Given the description of an element on the screen output the (x, y) to click on. 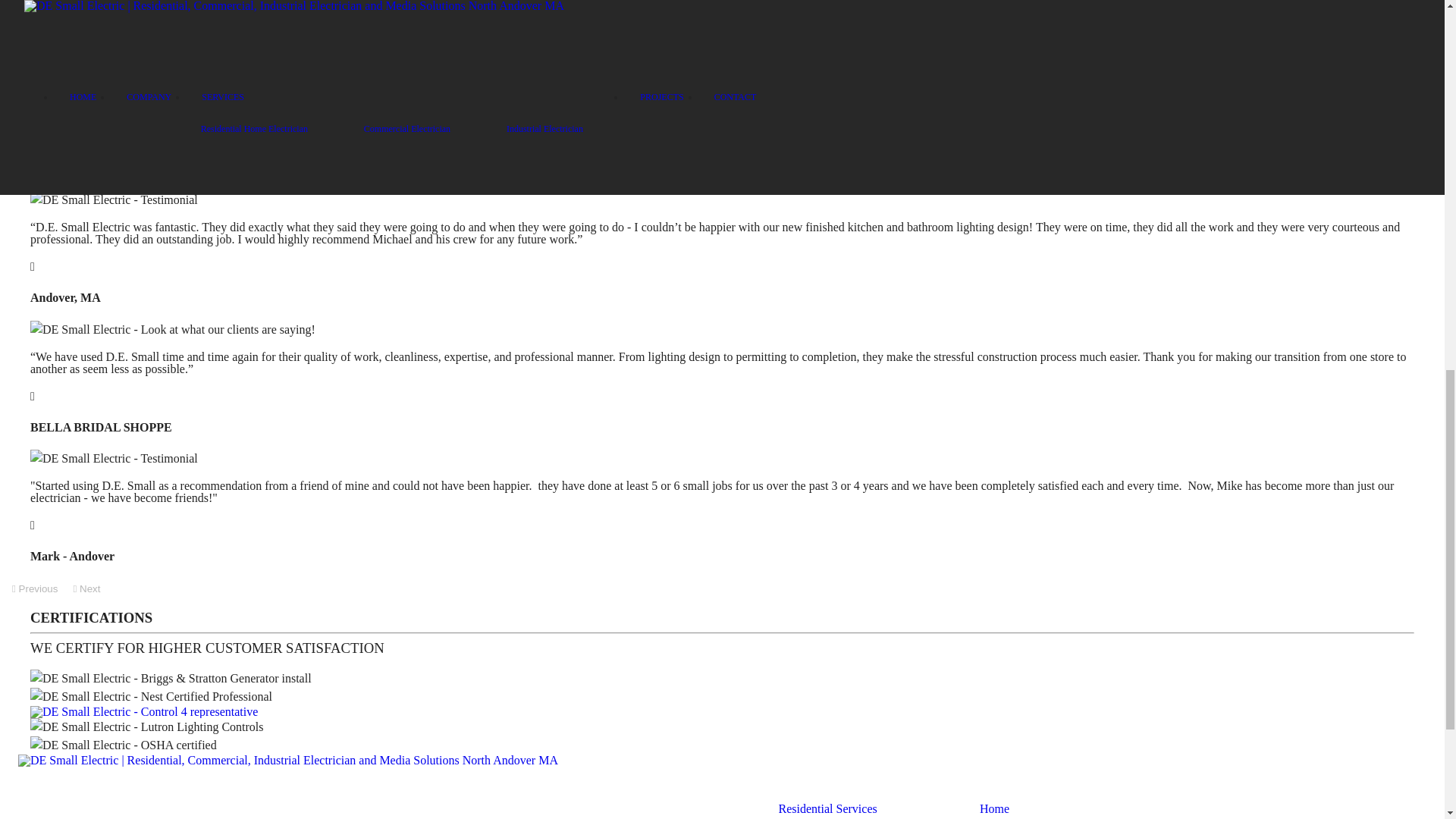
Residential Services (827, 808)
Previous (34, 588)
Next (86, 588)
industrial business (333, 9)
